Given the description of an element on the screen output the (x, y) to click on. 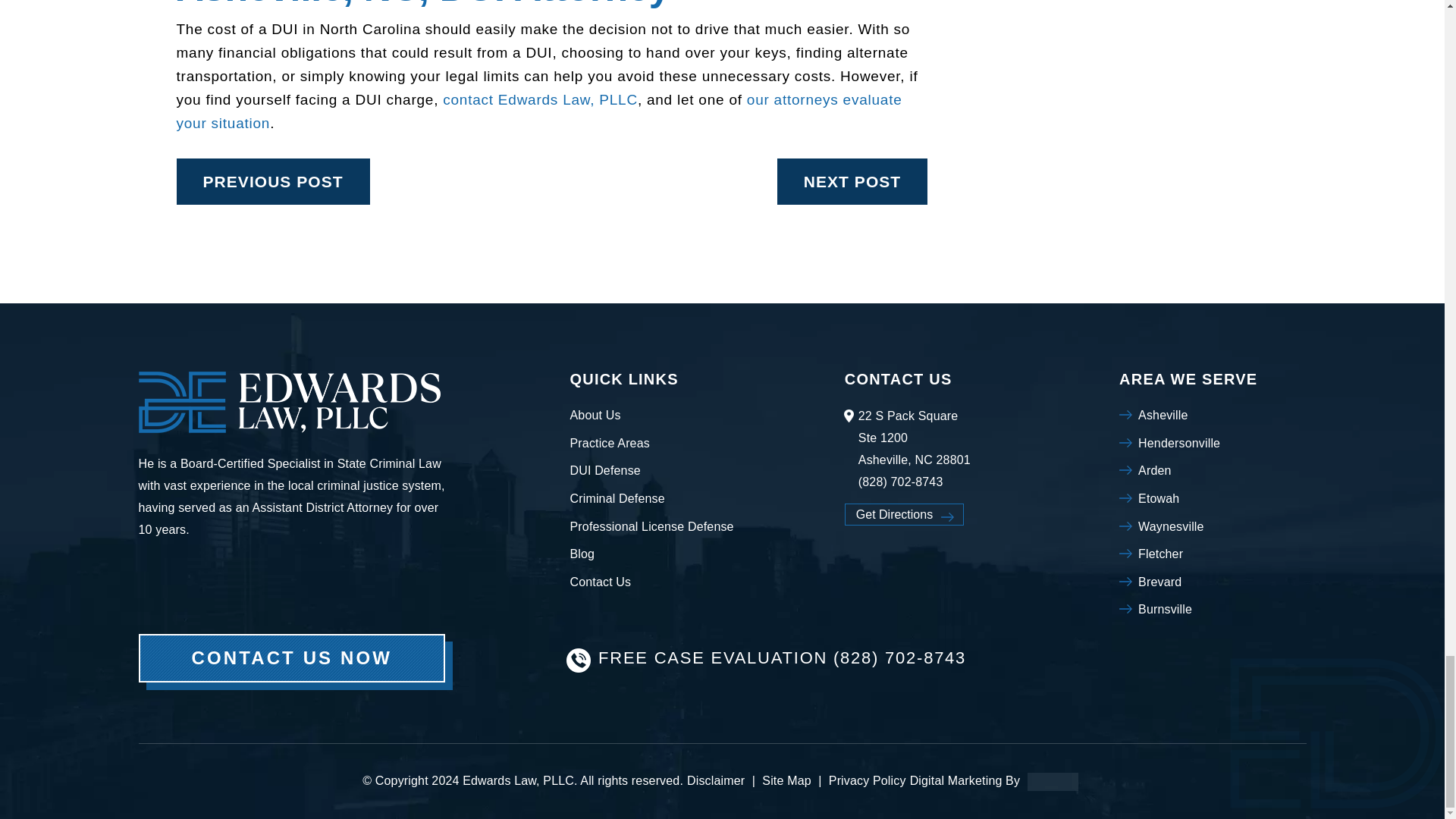
Etowah Criminal Defense Attorney (1158, 498)
Fletcher Criminal Defense Attorney (1160, 554)
Asheville Criminal Defense Attorney (1163, 415)
Waynesville Criminal Defense Lawyer (1171, 526)
Arden Criminal Defense Attorney (1155, 470)
Hendersonville Criminal Defense Lawyer (1179, 443)
